Given the description of an element on the screen output the (x, y) to click on. 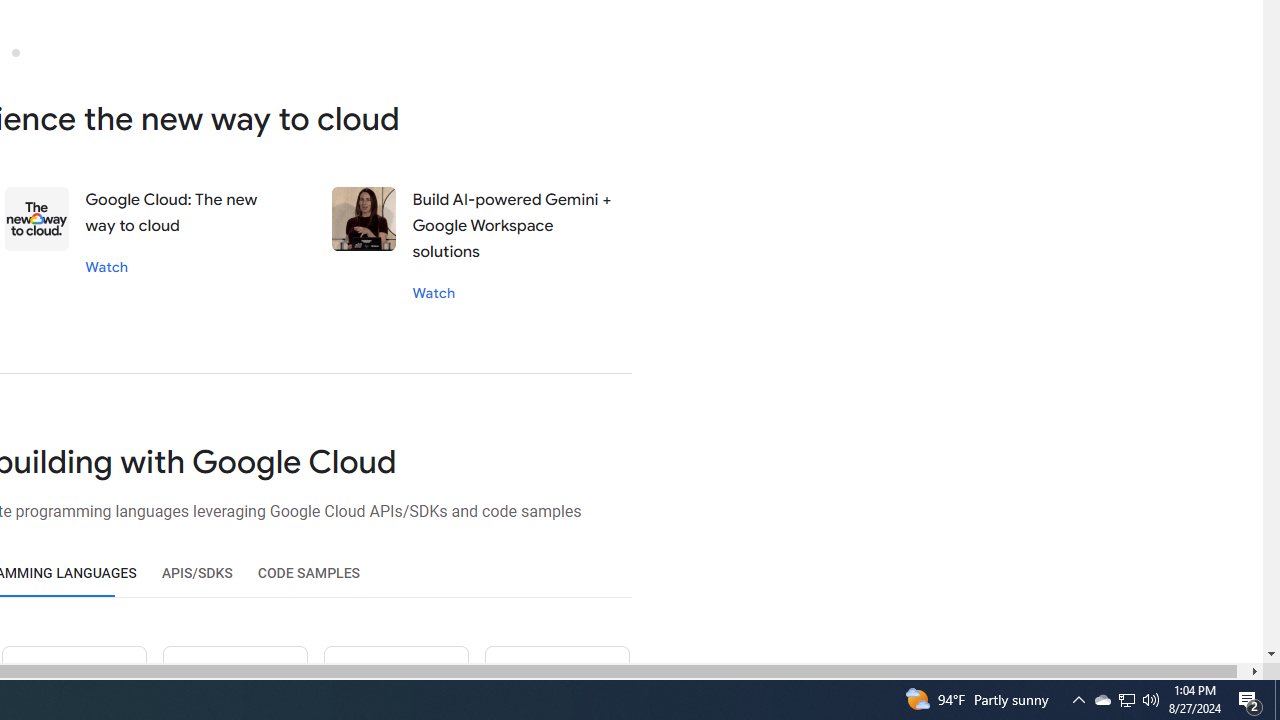
Watch (433, 292)
Slide 3 (15, 52)
APIS/SDKS (196, 573)
CODE SAMPLES (308, 573)
APIS/SDKS (196, 573)
Ruby icon (235, 682)
Data value (37, 219)
Stephanie wong's interview session (363, 219)
CODE SAMPLES (308, 573)
CPP icon (556, 682)
Dot net icon (395, 682)
